Given the description of an element on the screen output the (x, y) to click on. 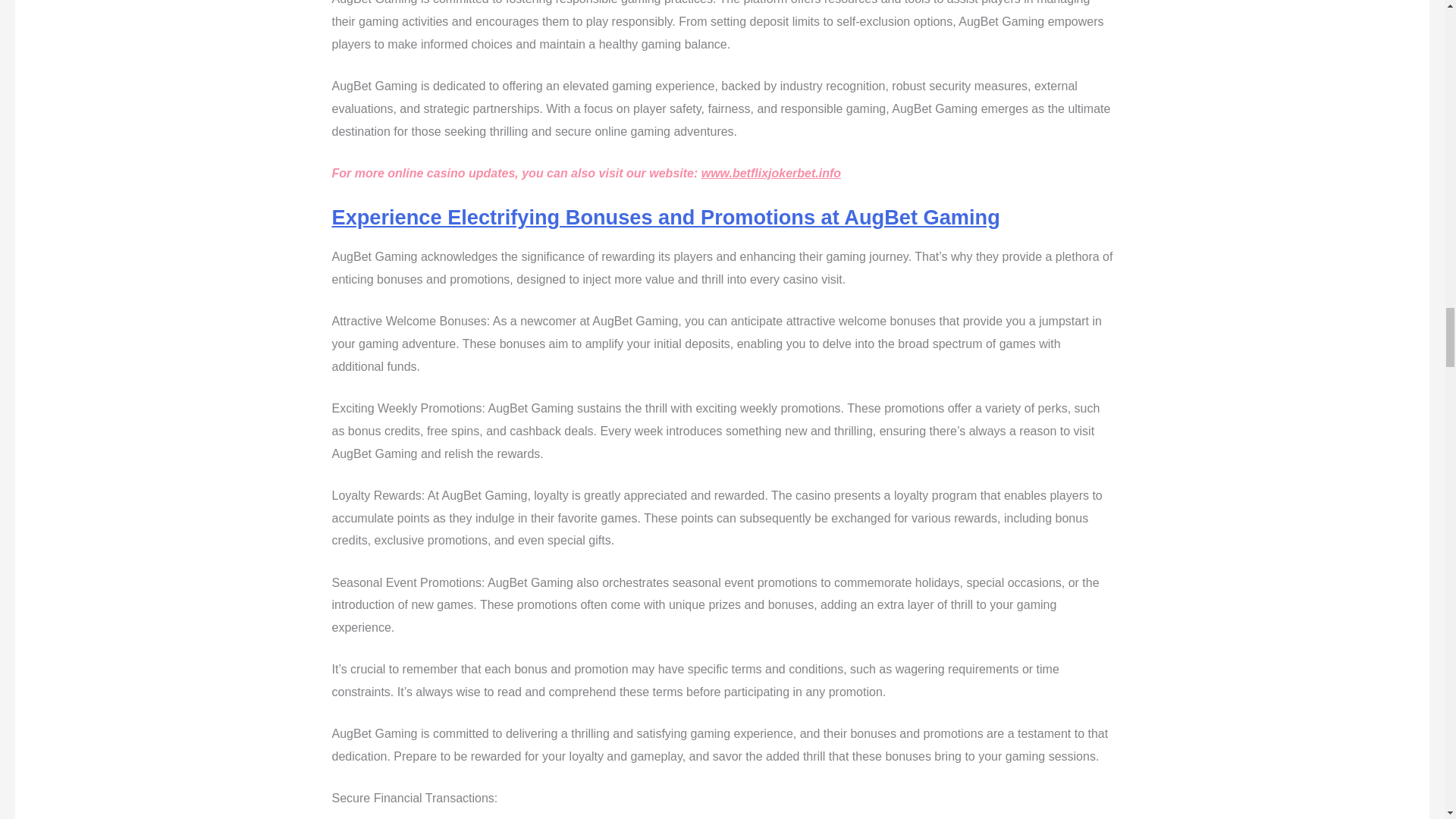
www.betflixjokerbet.info (771, 173)
